Given the description of an element on the screen output the (x, y) to click on. 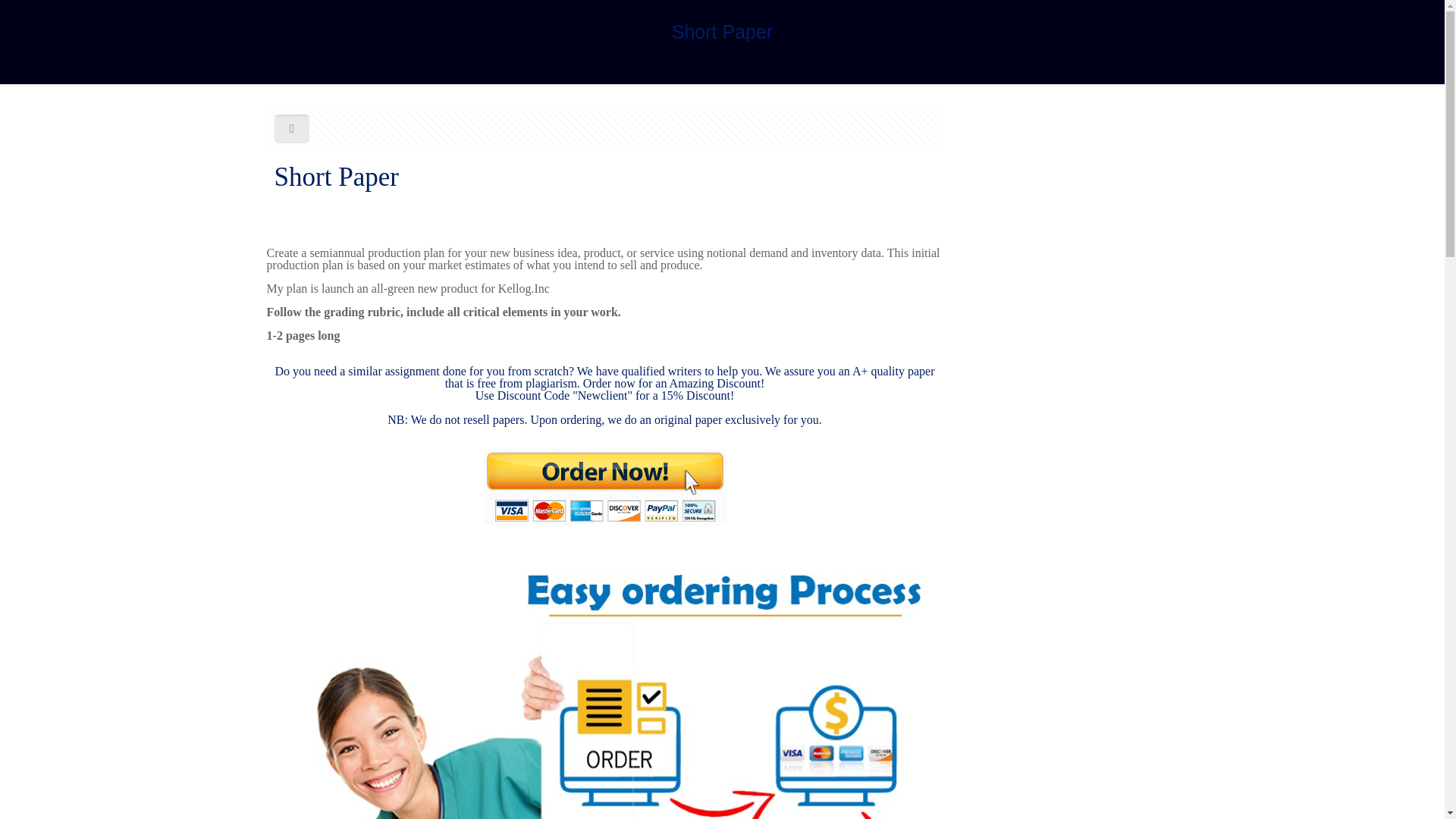
Uncategorized (708, 54)
Home (622, 54)
Short Paper (806, 54)
